Given the description of an element on the screen output the (x, y) to click on. 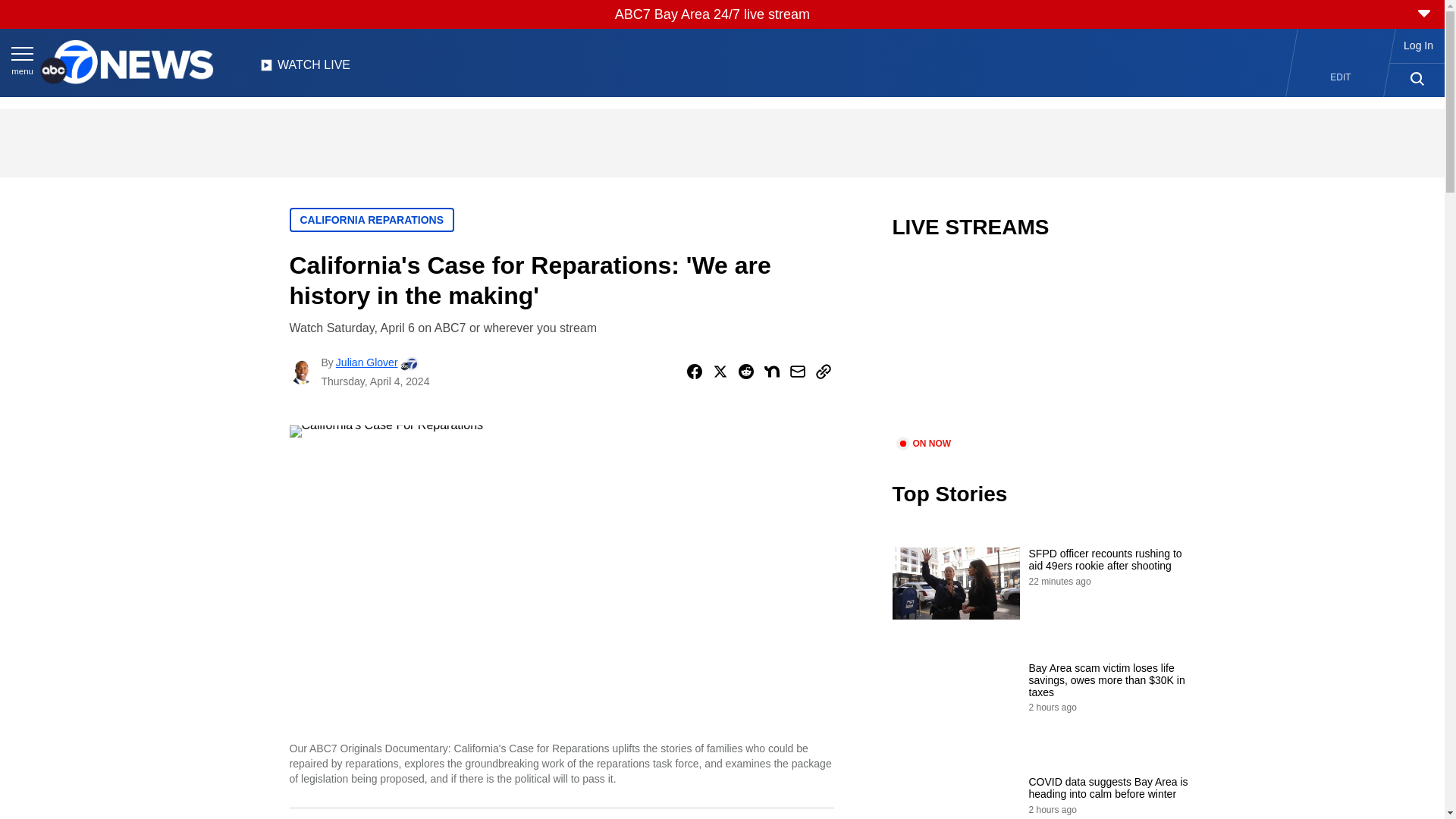
EDIT (1340, 77)
WATCH LIVE (305, 69)
video.title (1043, 347)
